Given the description of an element on the screen output the (x, y) to click on. 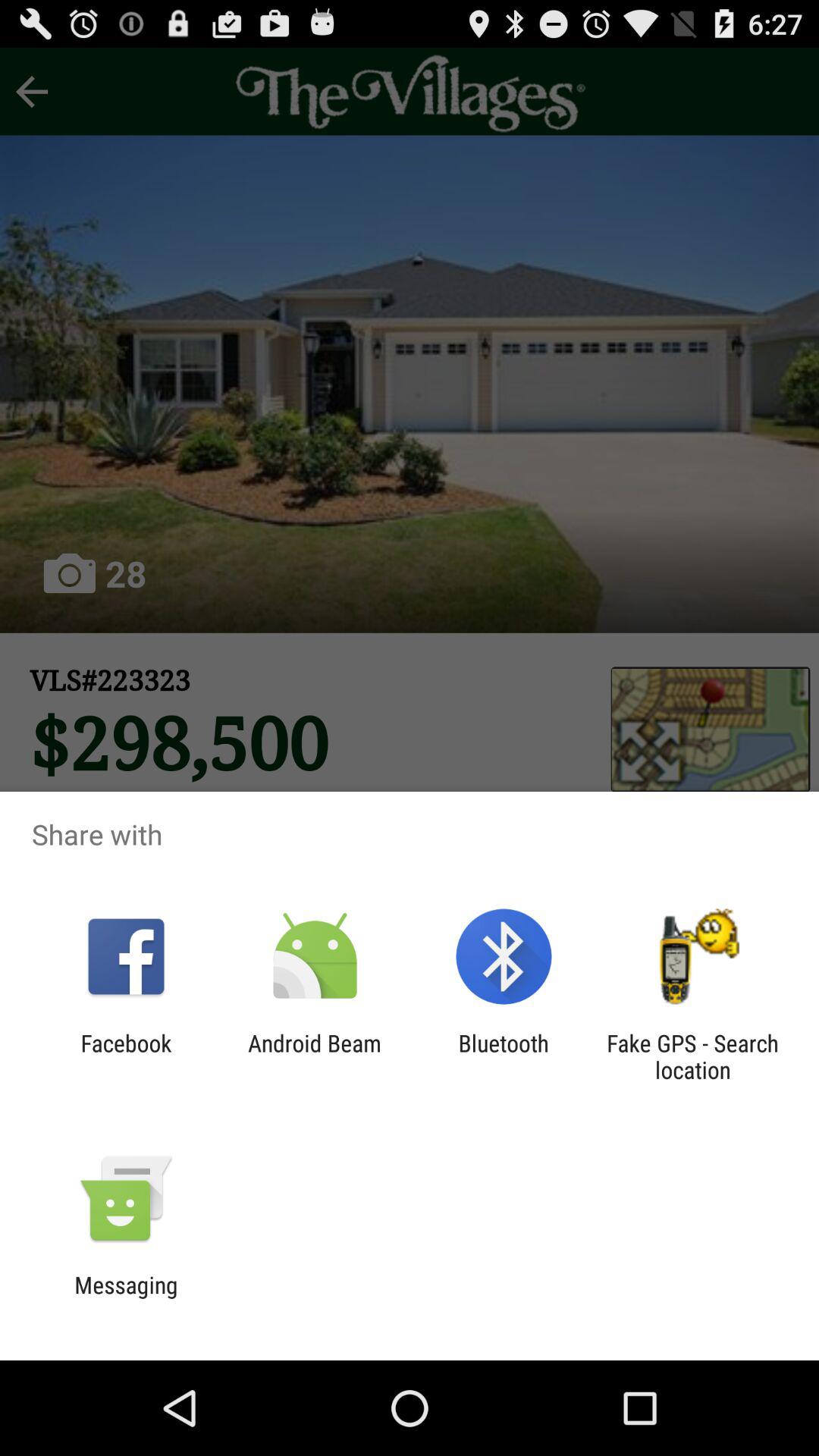
swipe until the fake gps search (692, 1056)
